Given the description of an element on the screen output the (x, y) to click on. 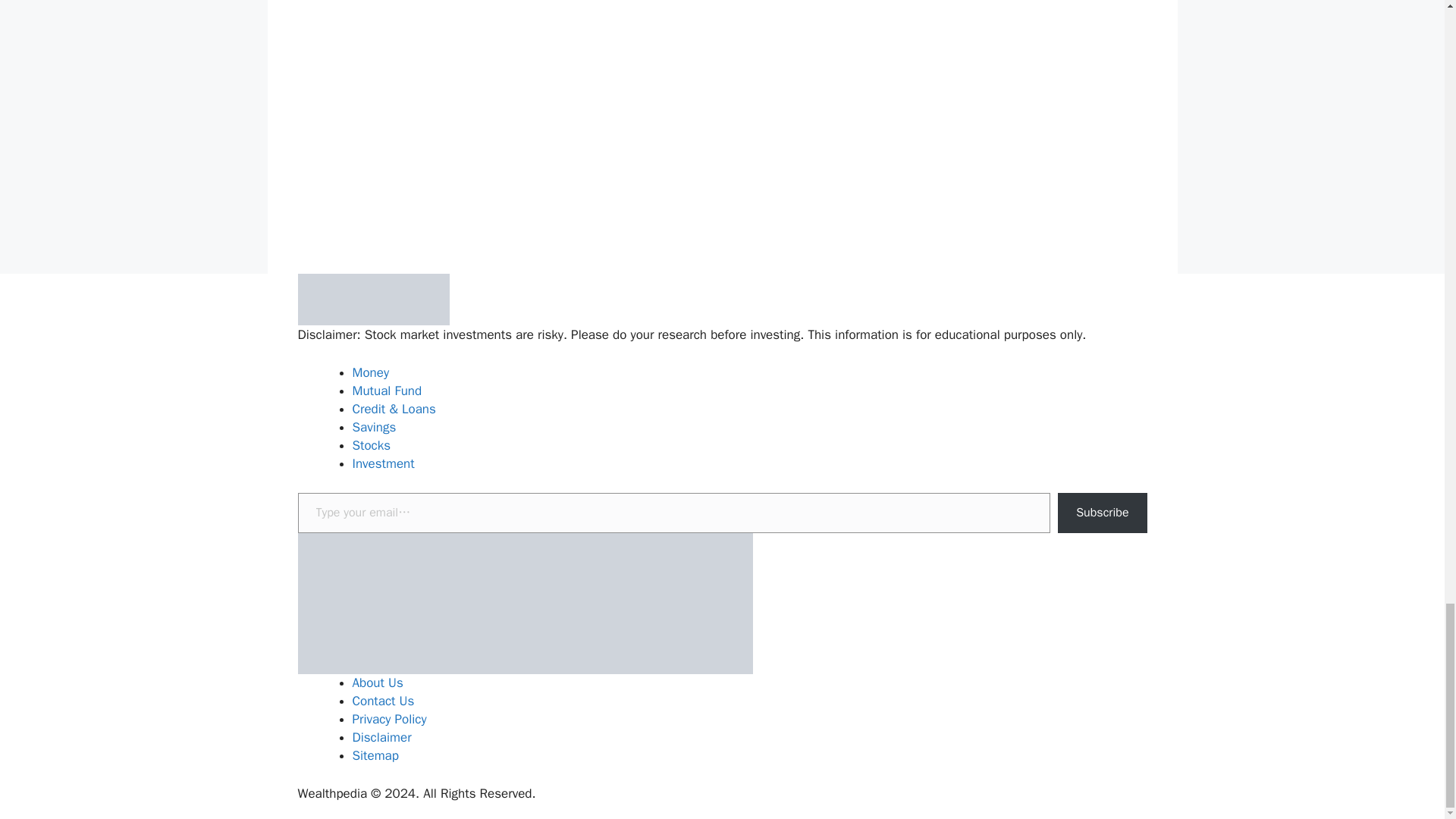
Please fill in this field. (673, 513)
